Given the description of an element on the screen output the (x, y) to click on. 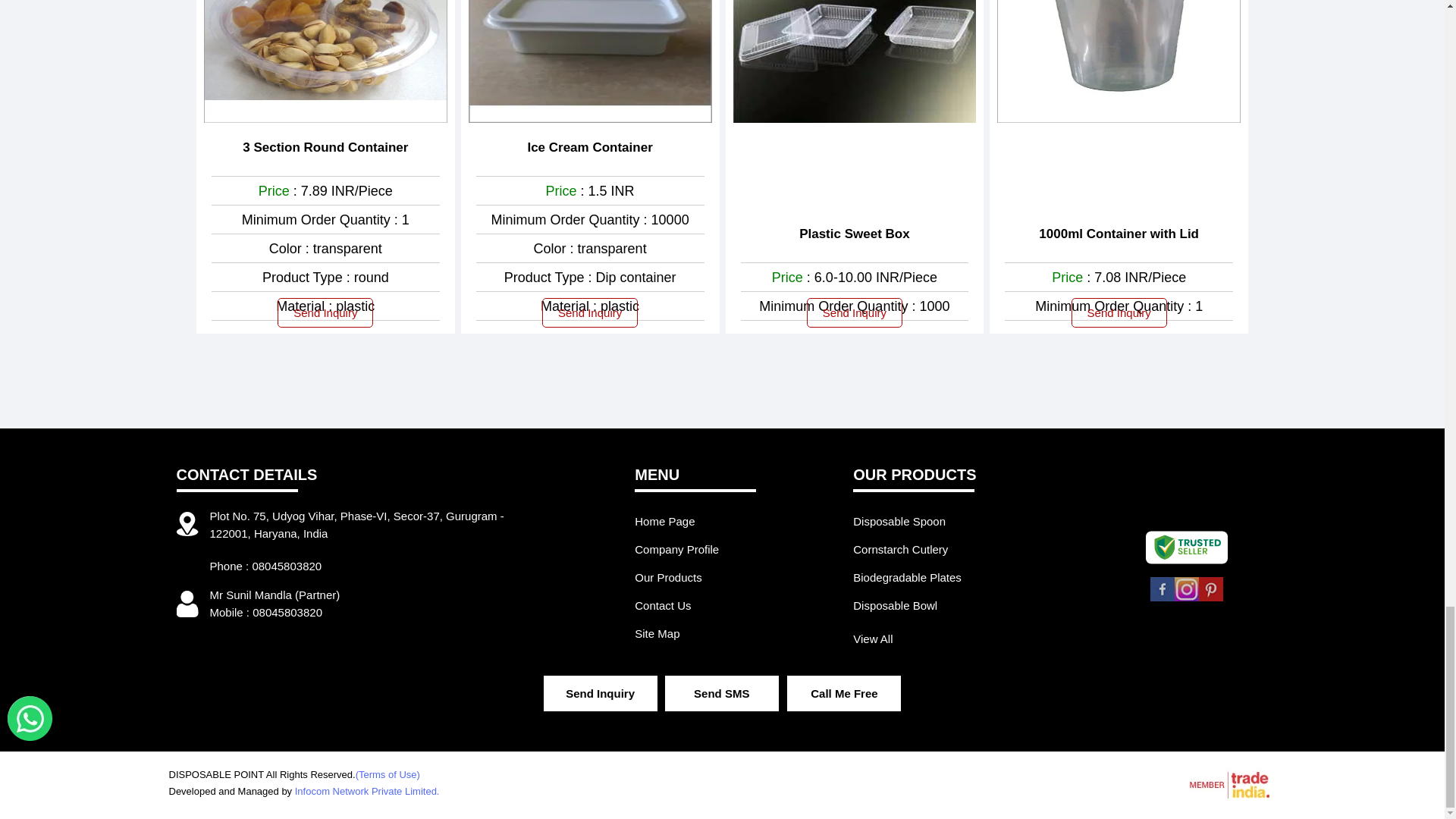
Facebook (1161, 598)
Instagram (1185, 598)
Pinterest (1210, 598)
